Given the description of an element on the screen output the (x, y) to click on. 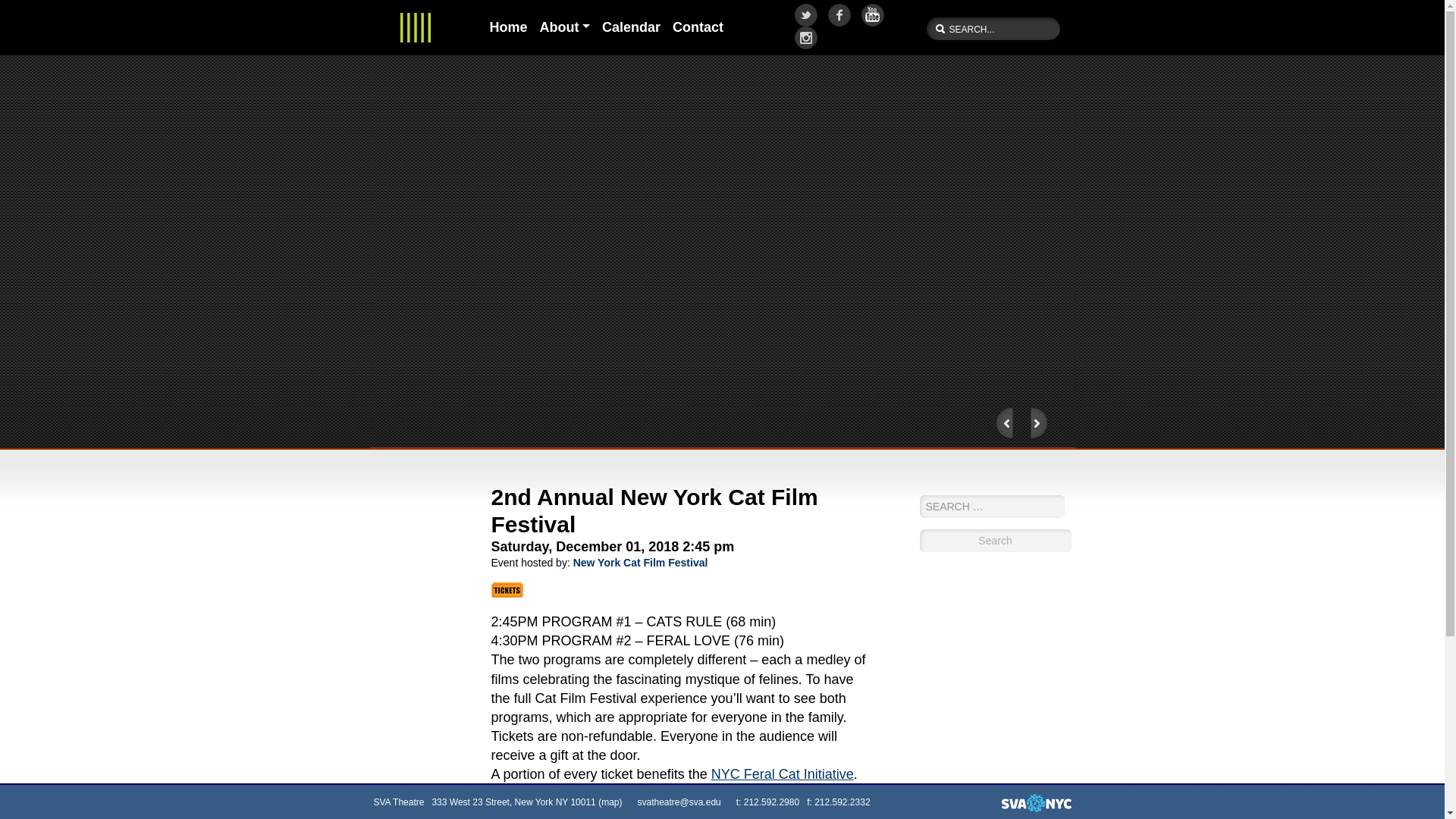
Search (994, 540)
Calendar (630, 27)
New York Cat Film Festival (640, 562)
Twitter (806, 15)
Facebook (839, 15)
Instagram (806, 37)
Home (508, 27)
Contact (697, 27)
About (565, 27)
Search (994, 540)
Reserve Tickets (507, 589)
Search (994, 540)
SVA (1035, 802)
SVA Theatre (415, 27)
NYC Feral Cat Initiative (782, 774)
